Given the description of an element on the screen output the (x, y) to click on. 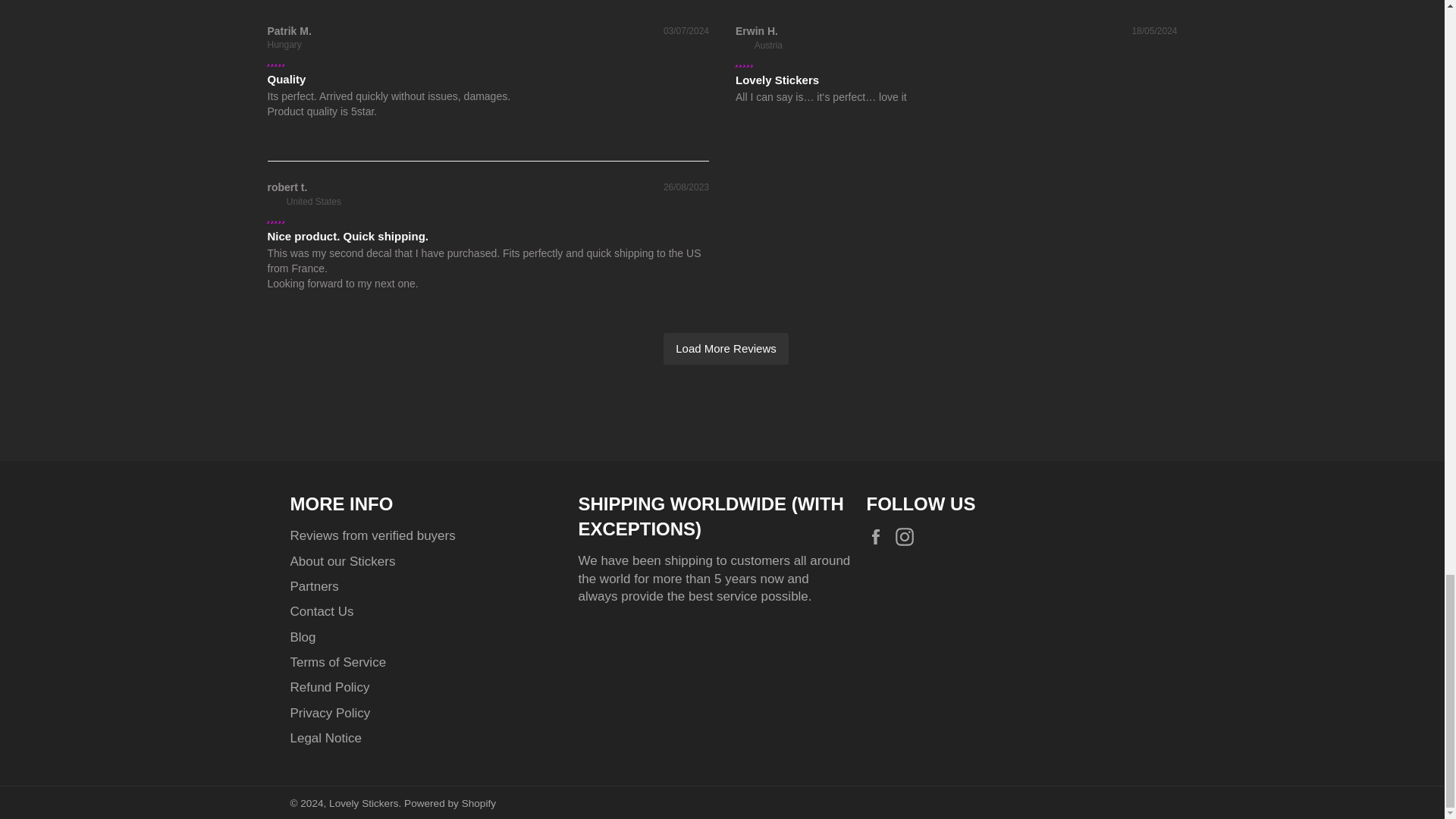
Lovely Stickers on Instagram (908, 536)
Lovely Stickers on Facebook (878, 536)
